Given the description of an element on the screen output the (x, y) to click on. 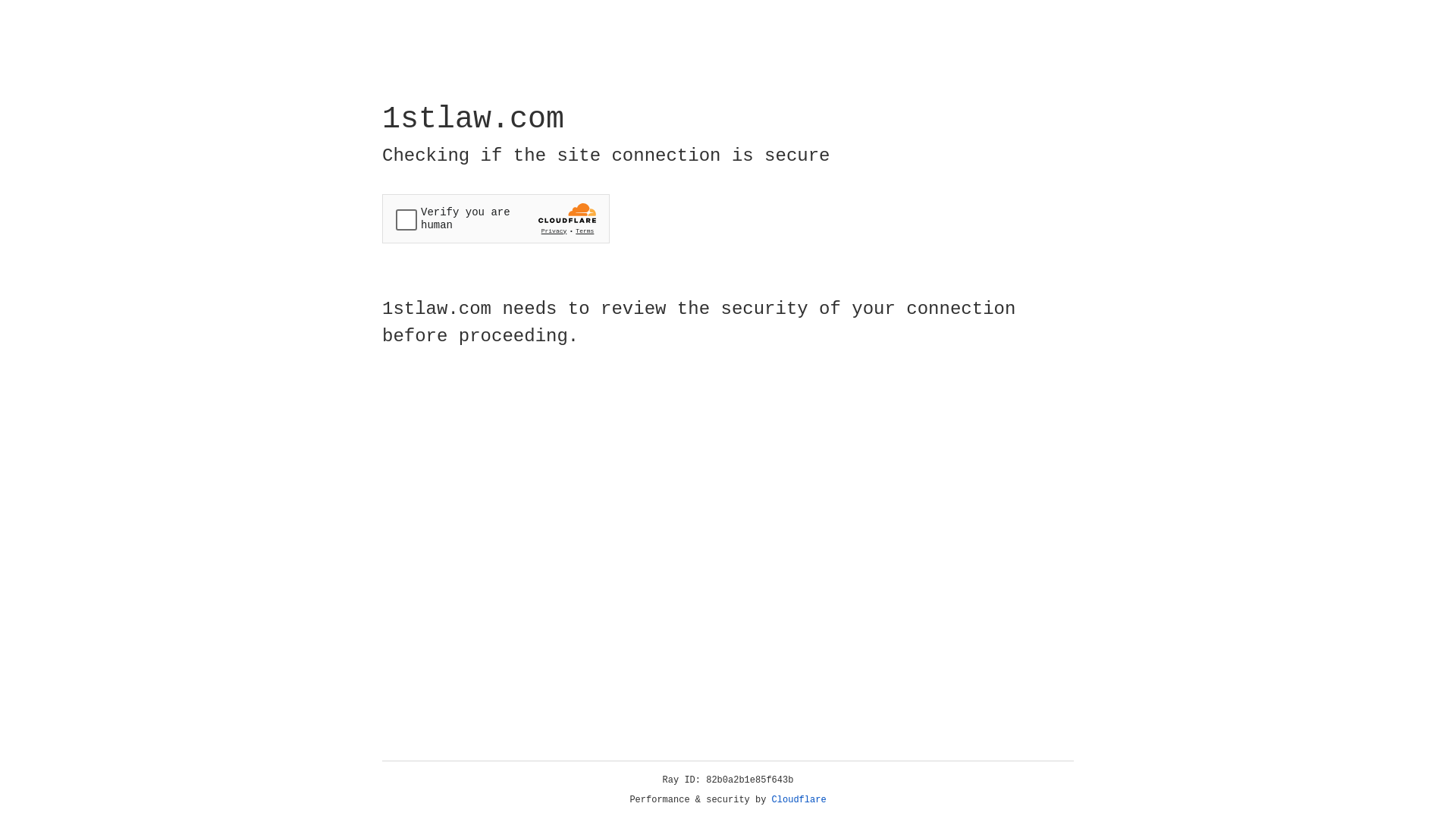
Widget containing a Cloudflare security challenge Element type: hover (495, 218)
Cloudflare Element type: text (798, 799)
